Given the description of an element on the screen output the (x, y) to click on. 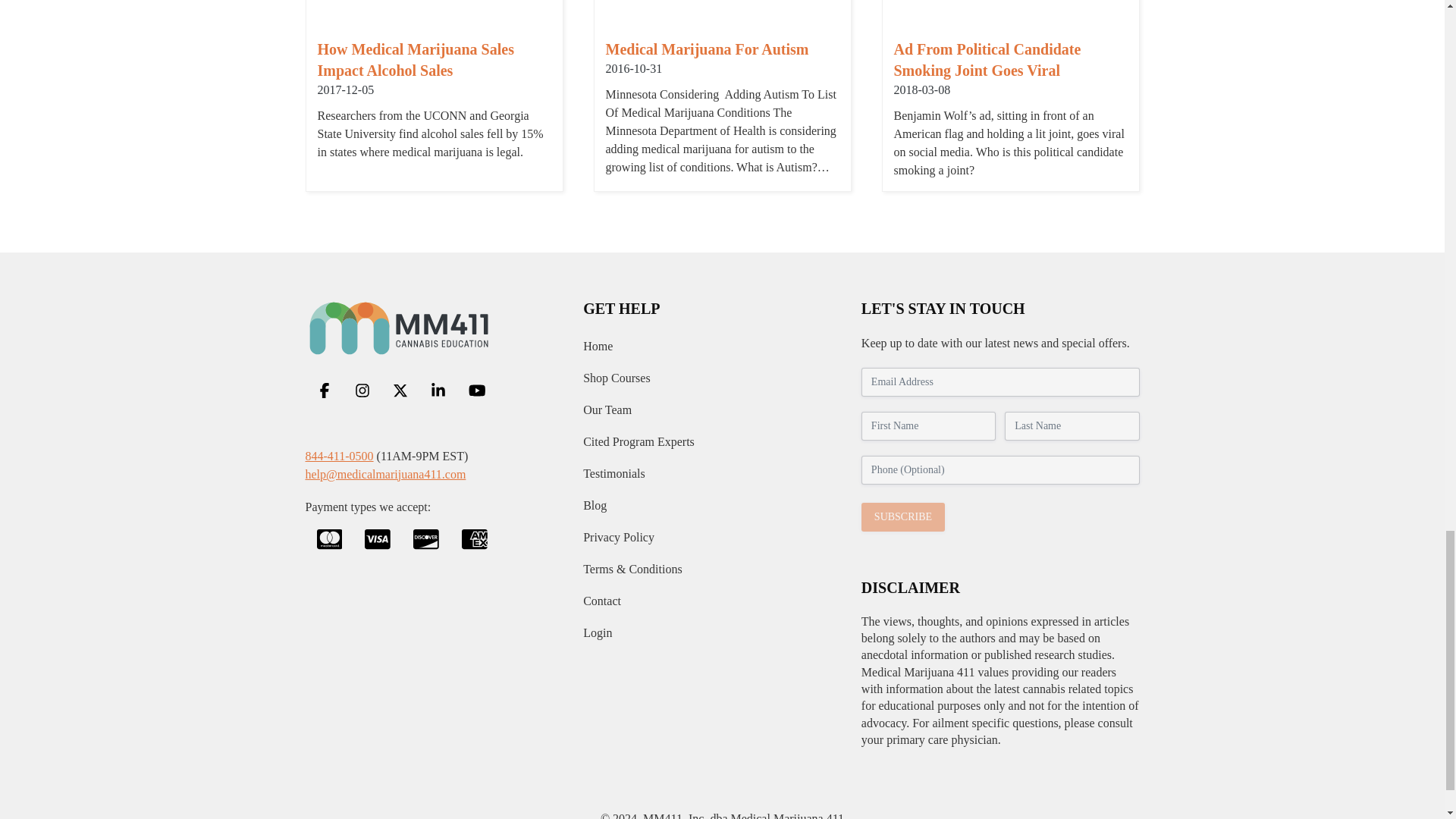
SUBSCRIBE (902, 516)
Facebook (323, 390)
YouTube (476, 390)
LinkedIn (438, 390)
Instagram (361, 390)
